Given the description of an element on the screen output the (x, y) to click on. 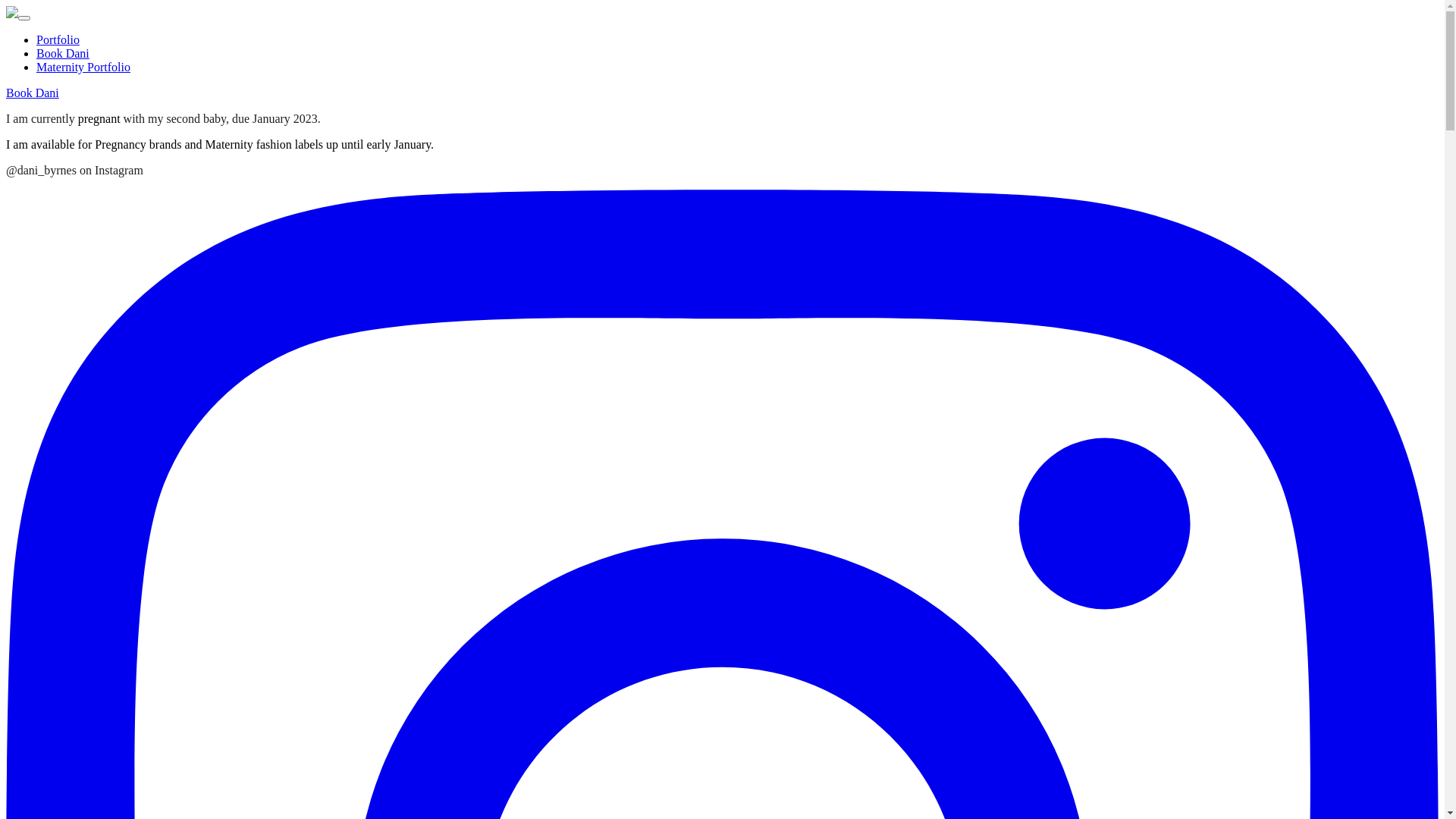
Book Dani Element type: text (32, 92)
Menu Element type: hover (24, 17)
Portfolio Element type: text (57, 39)
Maternity Portfolio Element type: text (83, 66)
Book Dani Element type: text (62, 53)
